Given the description of an element on the screen output the (x, y) to click on. 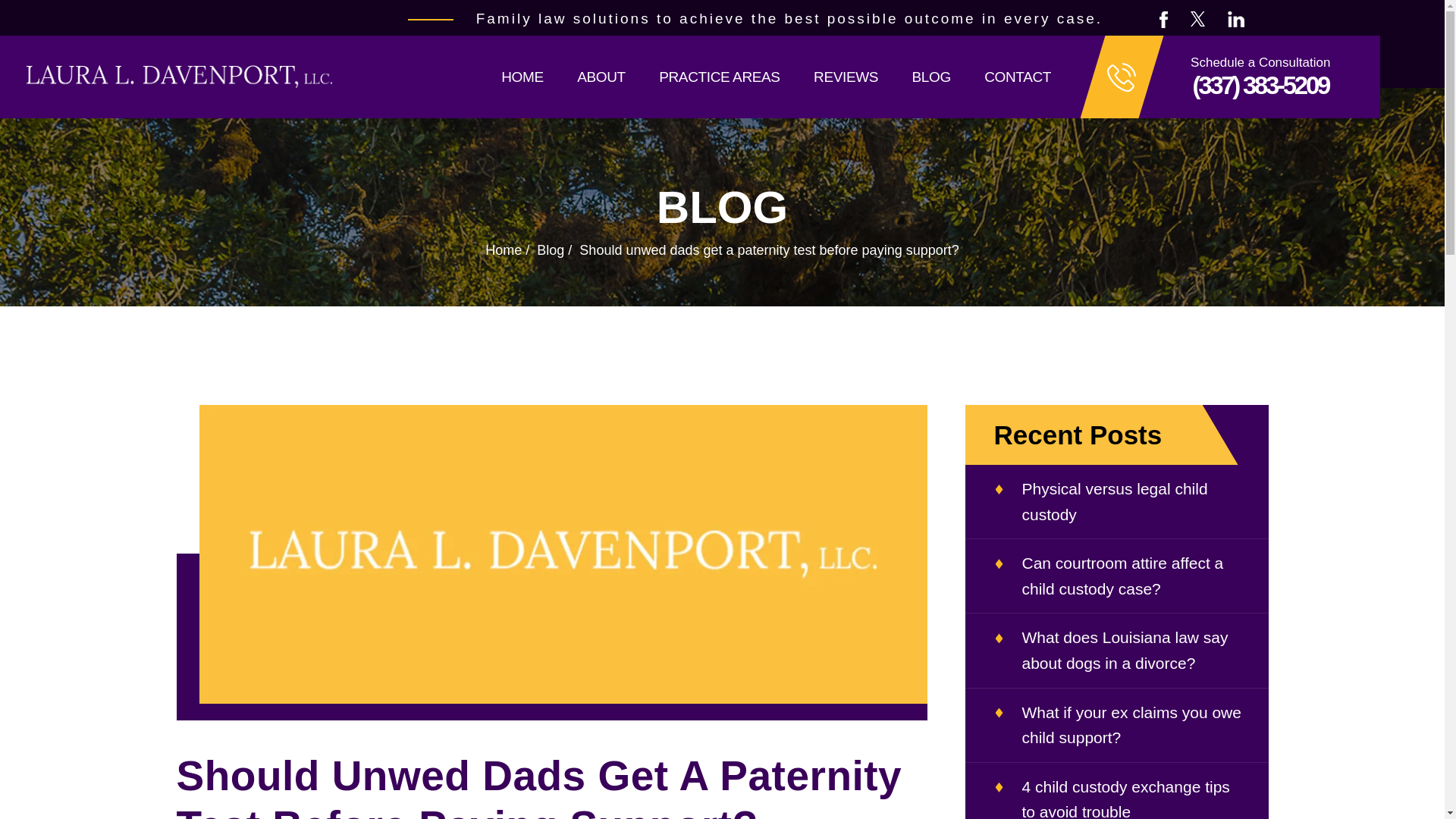
PRACTICE AREAS (718, 75)
BLOG (930, 75)
ABOUT (601, 75)
Linkedin (1235, 19)
CONTACT (1017, 75)
REVIEWS (845, 75)
Twitter (1198, 18)
HOME (521, 75)
